Given the description of an element on the screen output the (x, y) to click on. 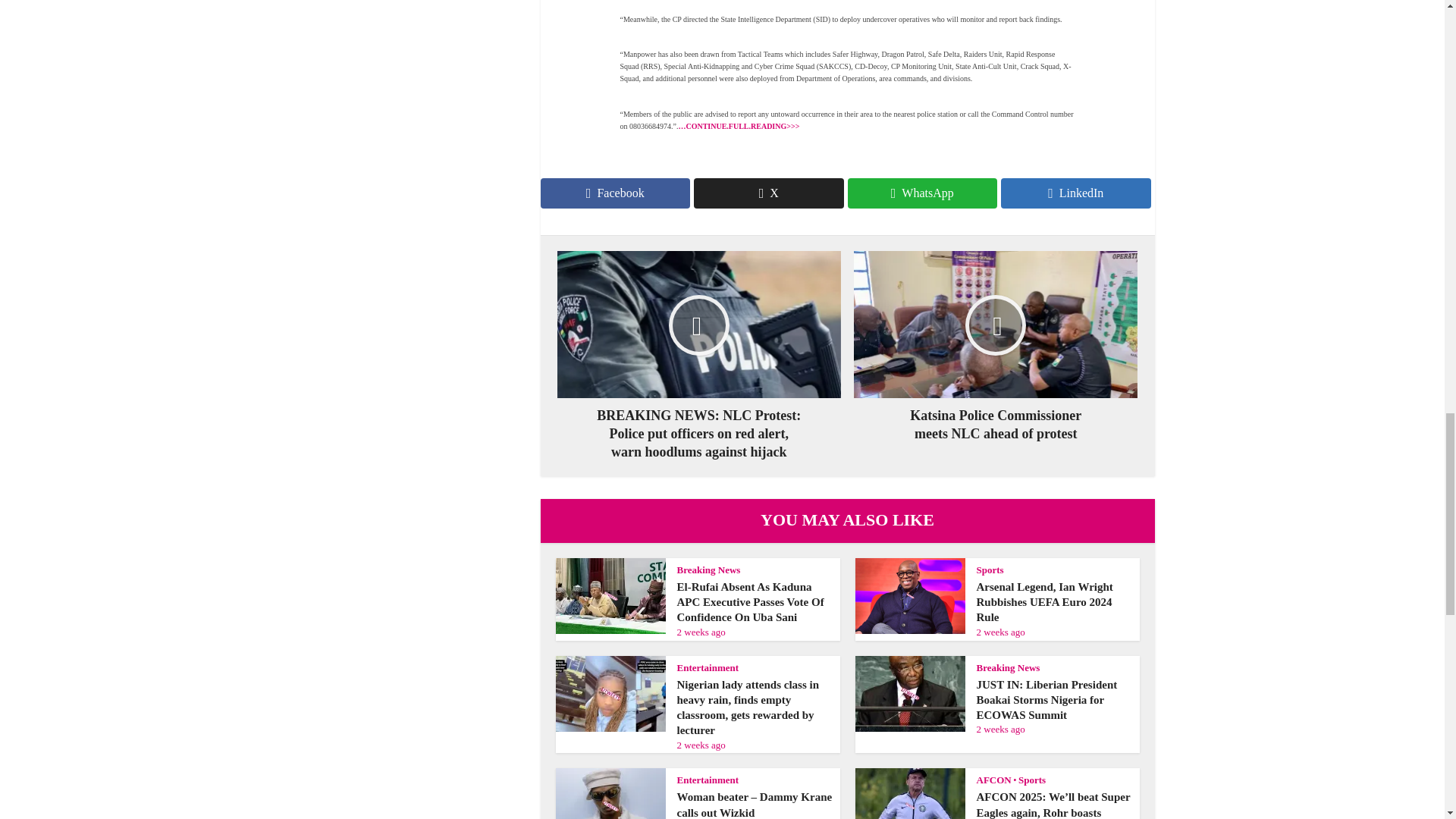
Arsenal Legend, Ian Wright Rubbishes UEFA Euro 2024 Rule (1044, 602)
